Given the description of an element on the screen output the (x, y) to click on. 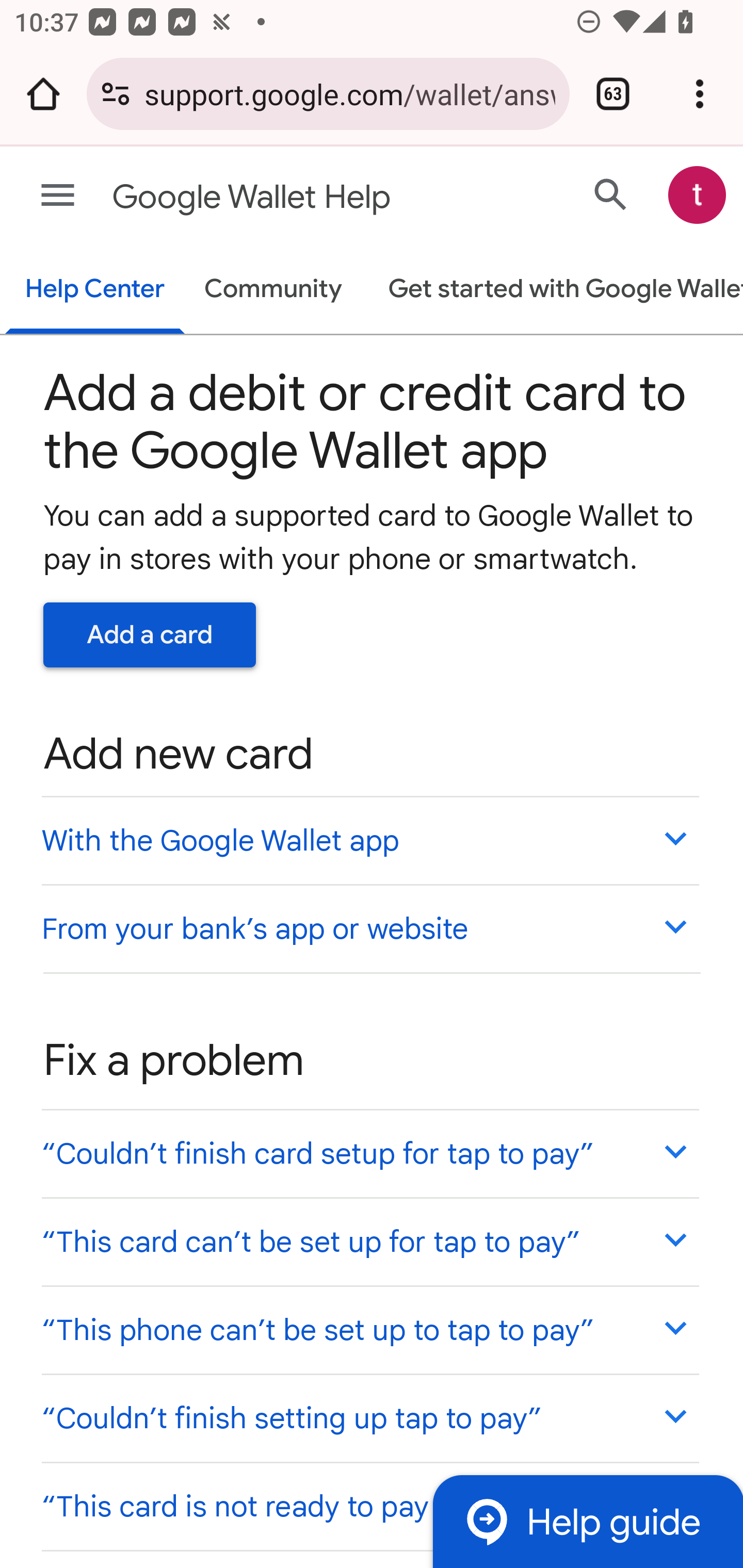
Open the home page (43, 93)
Connection is secure (115, 93)
Switch or close tabs (612, 93)
Customize and control Google Chrome (699, 93)
Main menu (58, 195)
Google Wallet Help (292, 197)
Search Help Center (611, 194)
Help Center (94, 289)
Community (273, 289)
Get started with Google Wallet (555, 289)
Add a card (149, 633)
With the Google Wallet app (369, 839)
From your bank’s app or website (369, 927)
“Couldn’t finish card setup for tap to pay” (369, 1152)
“This card can’t be set up for tap to pay” (369, 1240)
“This phone can’t be set up to tap to pay” (369, 1329)
“Couldn’t finish setting up tap to pay” (369, 1417)
“This card is not ready to pay online” (369, 1504)
Help guide (587, 1520)
